Given the description of an element on the screen output the (x, y) to click on. 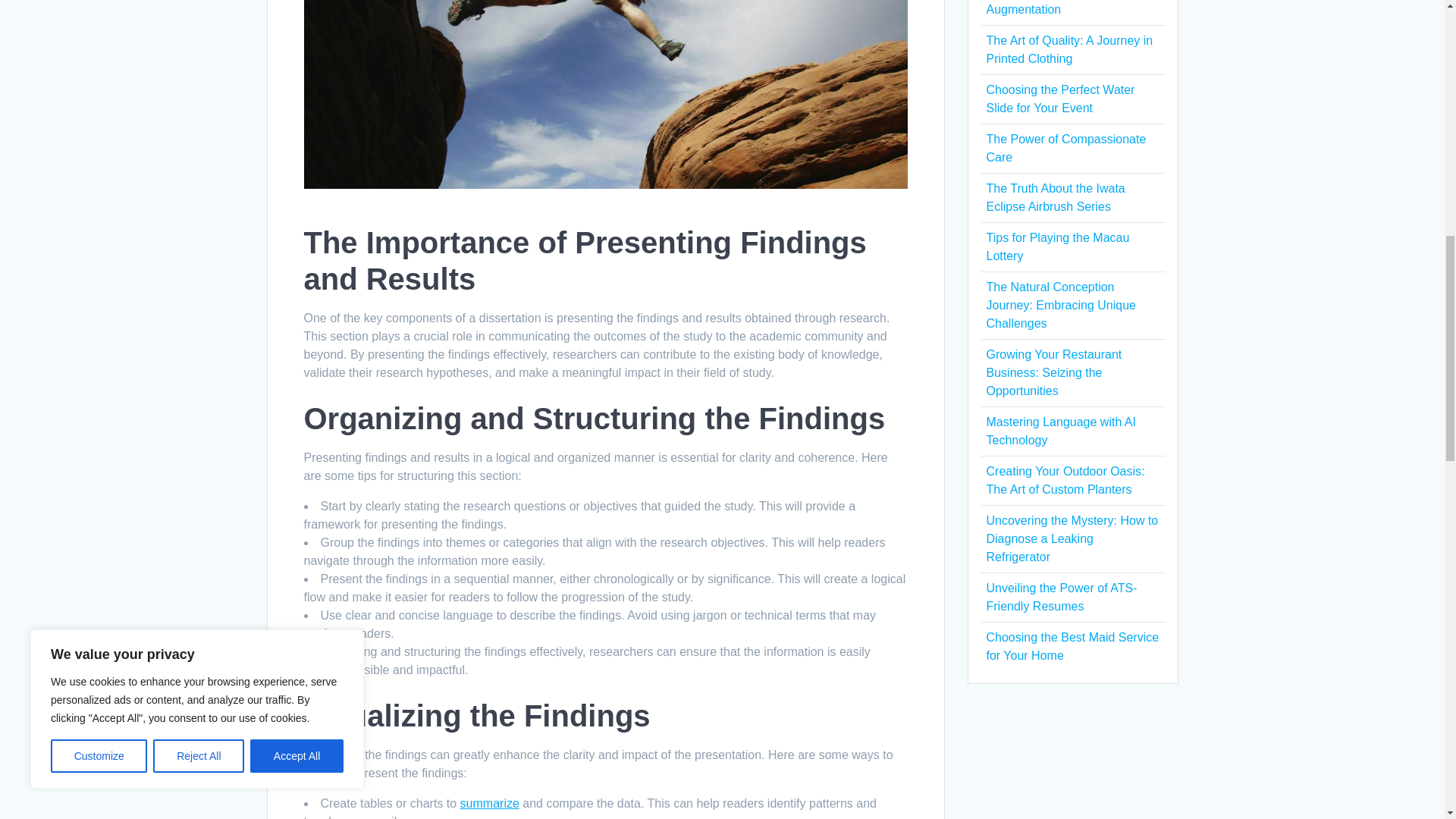
summarize (489, 802)
The Power of Compassionate Care (1065, 147)
Growing Your Restaurant Business: Seizing the Opportunities (1053, 372)
Choosing the Perfect Water Slide for Your Event (1059, 98)
The Truth About the Iwata Eclipse Airbrush Series (1054, 196)
The Natural Conception Journey: Embracing Unique Challenges (1060, 305)
The Art of Quality: A Journey in Printed Clothing (1069, 49)
Tips for Playing the Macau Lottery (1057, 246)
